Given the description of an element on the screen output the (x, y) to click on. 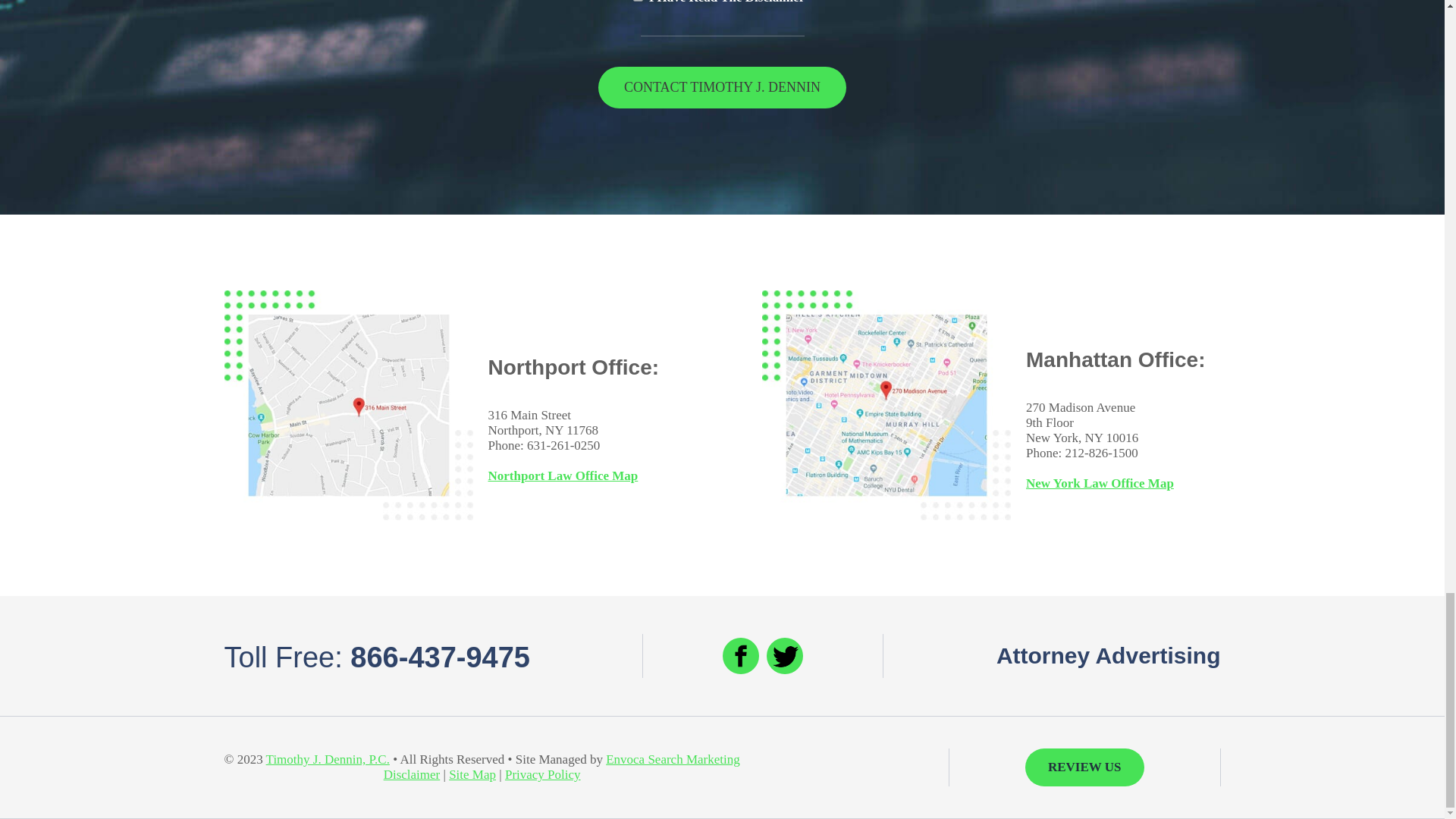
Contact Timothy J. Dennin (721, 87)
